Given the description of an element on the screen output the (x, y) to click on. 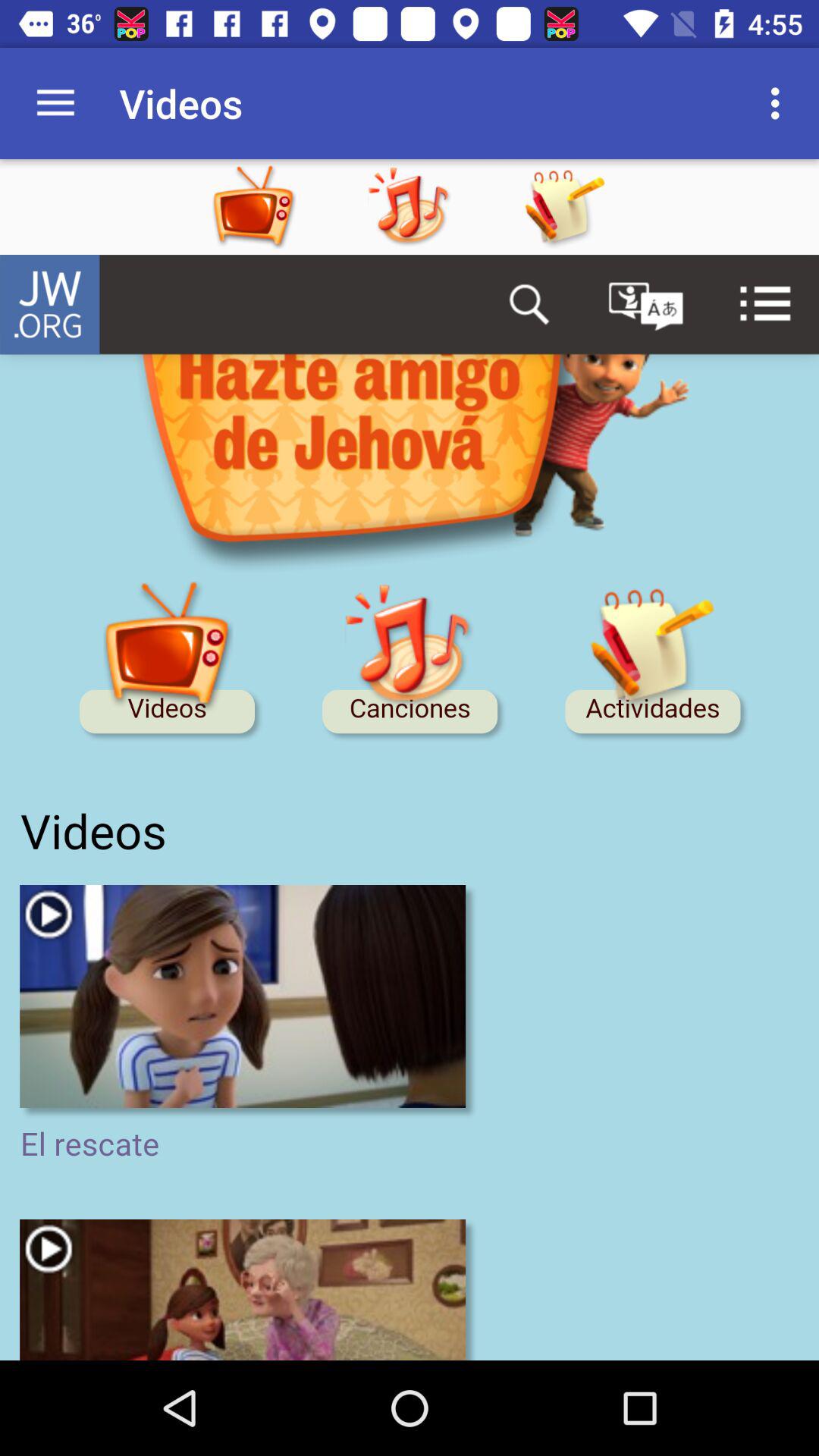
select videos (283, 206)
